Given the description of an element on the screen output the (x, y) to click on. 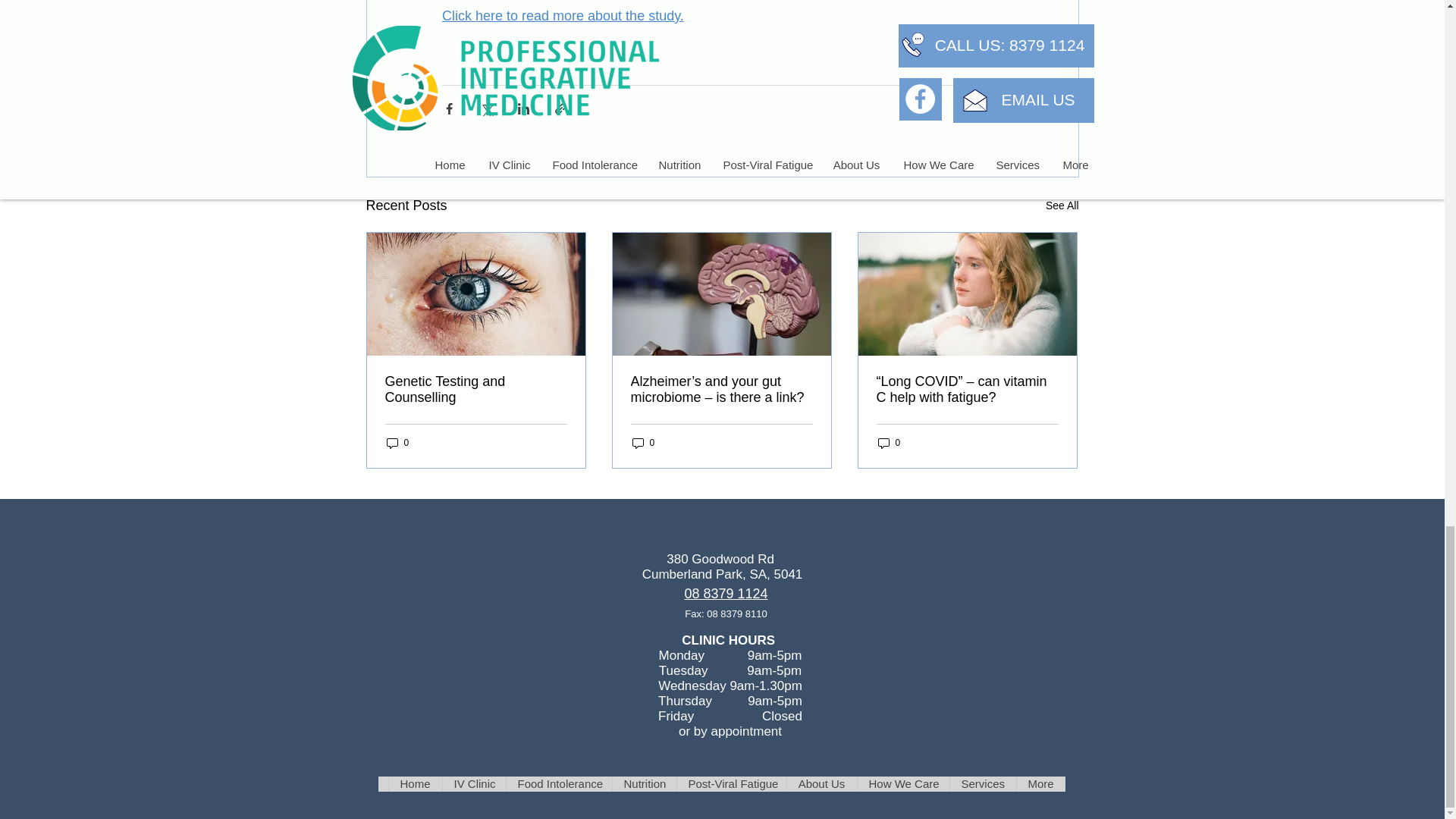
Click here to read more about the study. (561, 15)
0 (889, 441)
See All (1061, 205)
0 (643, 441)
08 8379 1124 (725, 594)
0 (397, 441)
Genetic Testing and Counselling (476, 389)
Food Intolerance (558, 783)
IV Clinic (473, 783)
Home (415, 783)
